Given the description of an element on the screen output the (x, y) to click on. 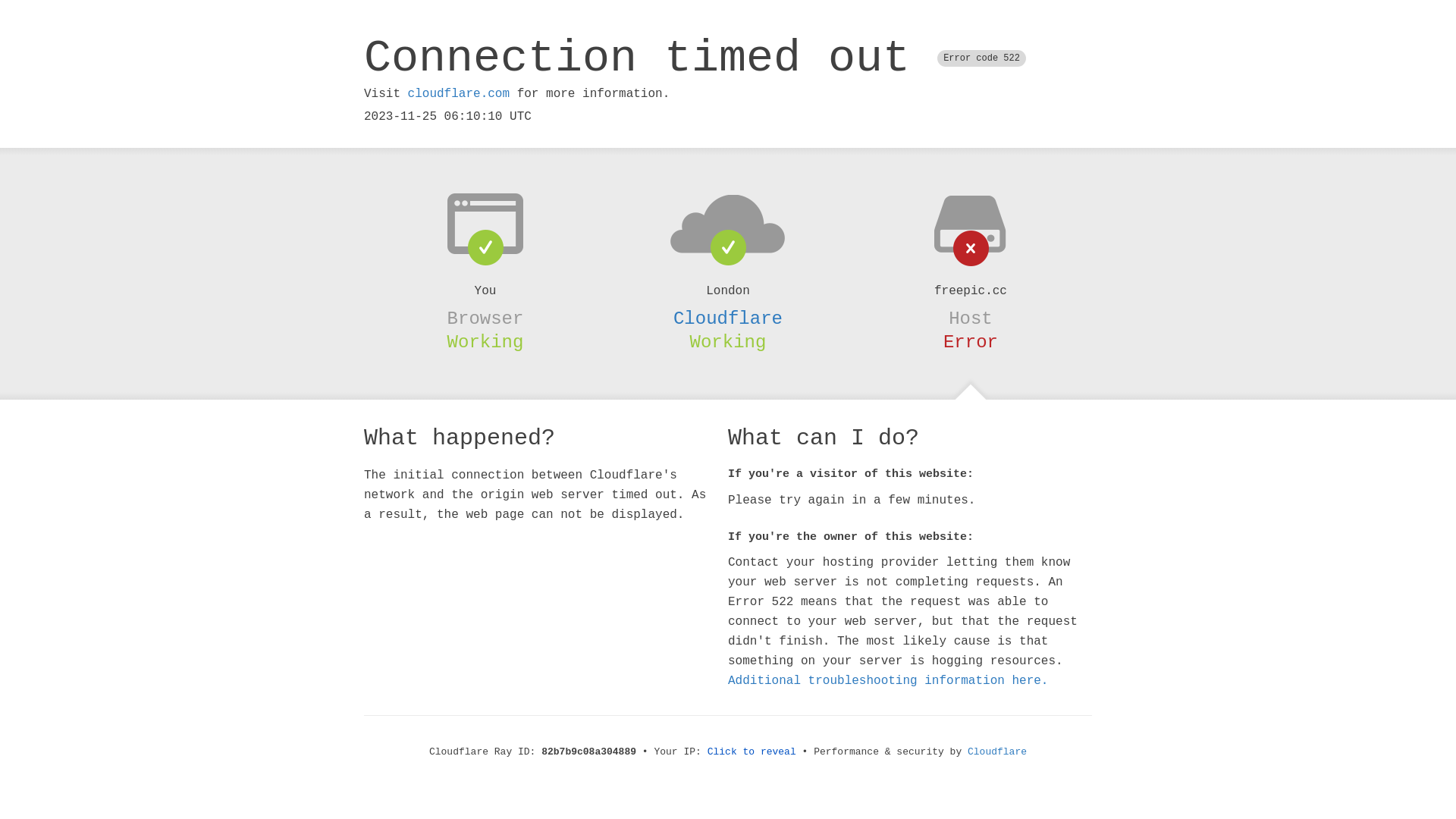
Cloudflare Element type: text (727, 318)
Additional troubleshooting information here. Element type: text (888, 680)
cloudflare.com Element type: text (458, 93)
Click to reveal Element type: text (751, 751)
Cloudflare Element type: text (996, 751)
